Given the description of an element on the screen output the (x, y) to click on. 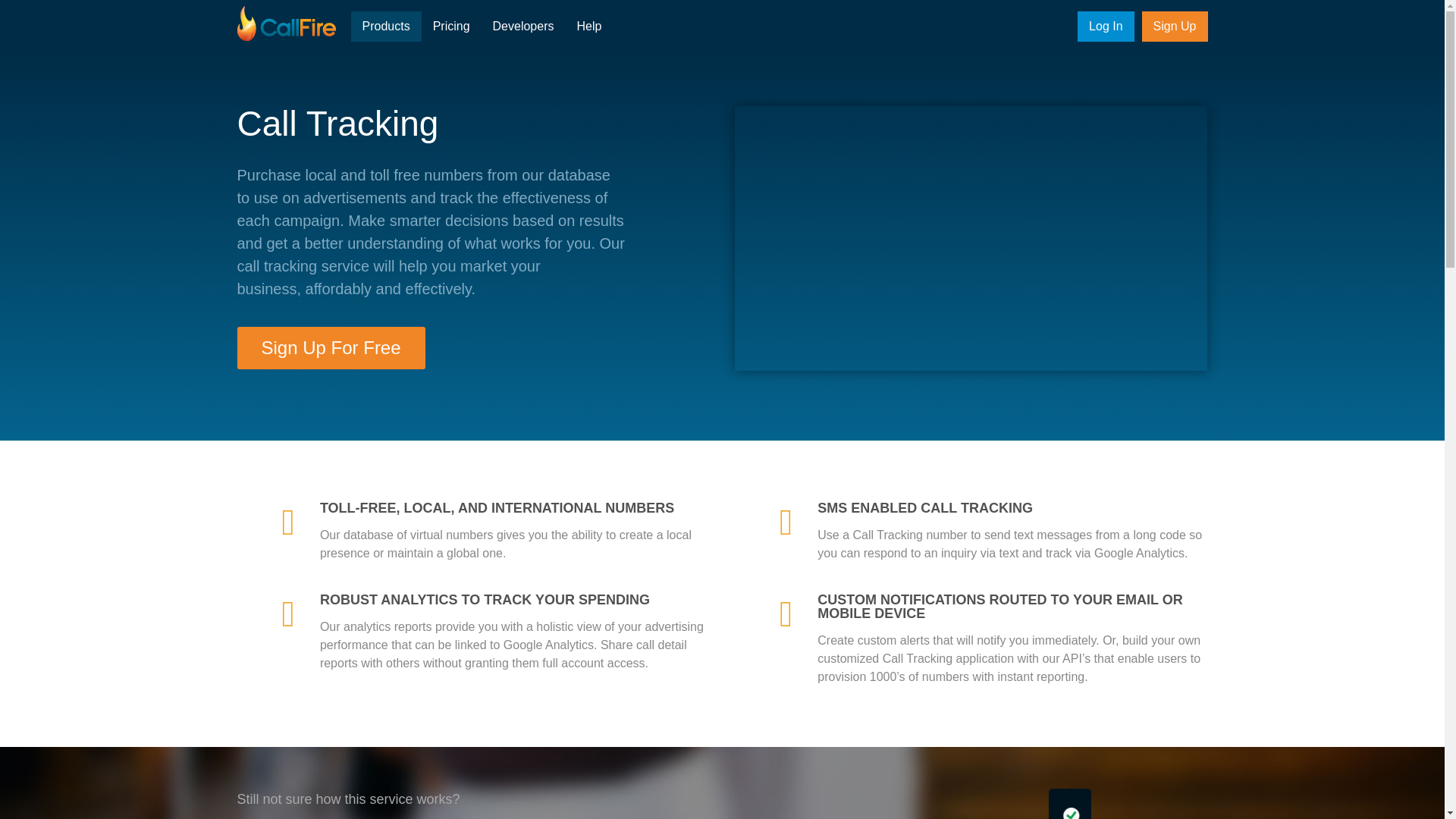
CallFire - Your Message Delivered (285, 23)
Callfire Knowledgebase (588, 26)
CallFire Login (1105, 26)
Help (588, 26)
Products (385, 26)
Join the Club (1174, 26)
Pricing (451, 26)
Developers (523, 26)
Sign Up (1174, 26)
Sign Up For Free (330, 347)
